Given the description of an element on the screen output the (x, y) to click on. 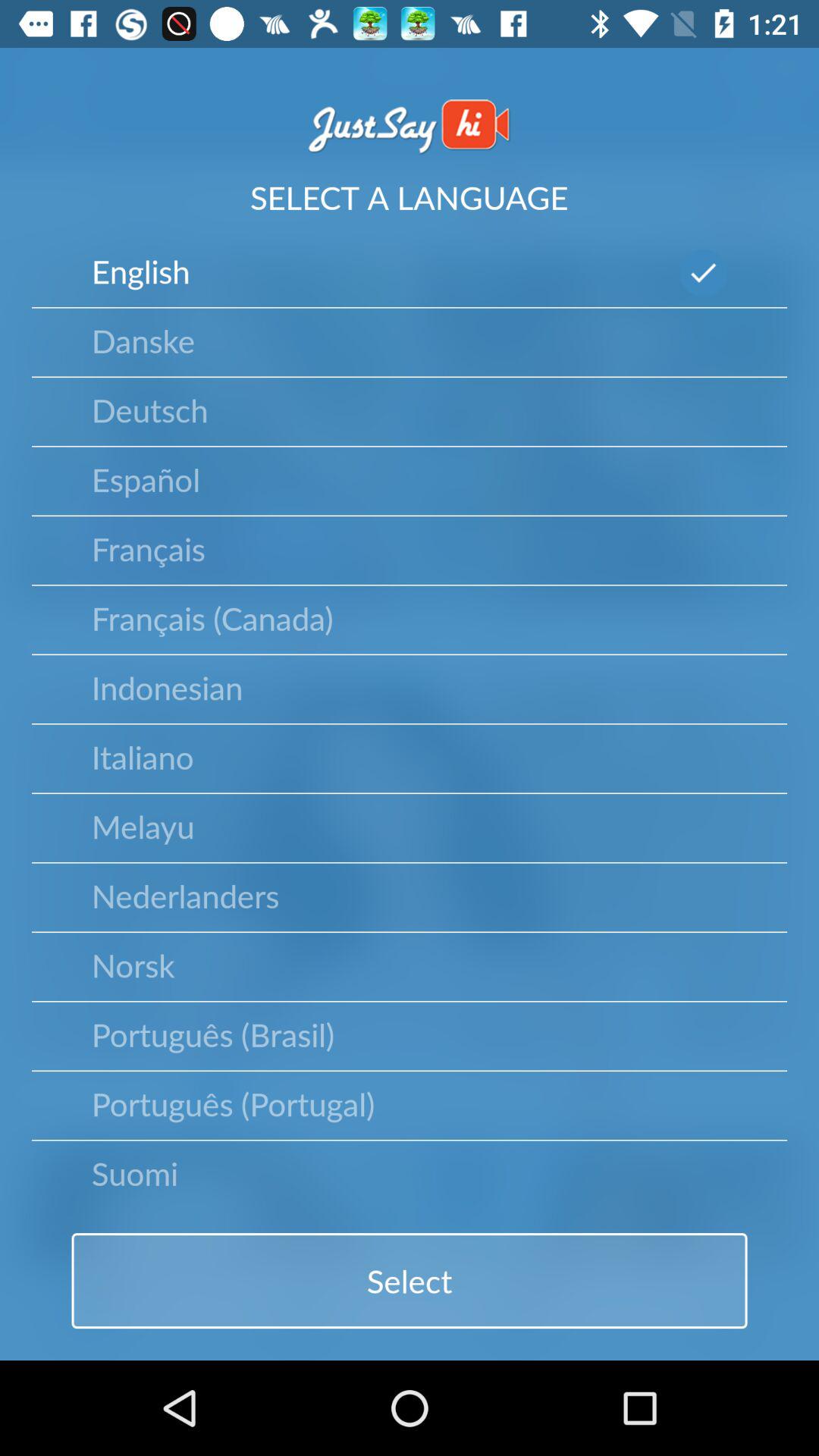
tap norsk (132, 964)
